Given the description of an element on the screen output the (x, y) to click on. 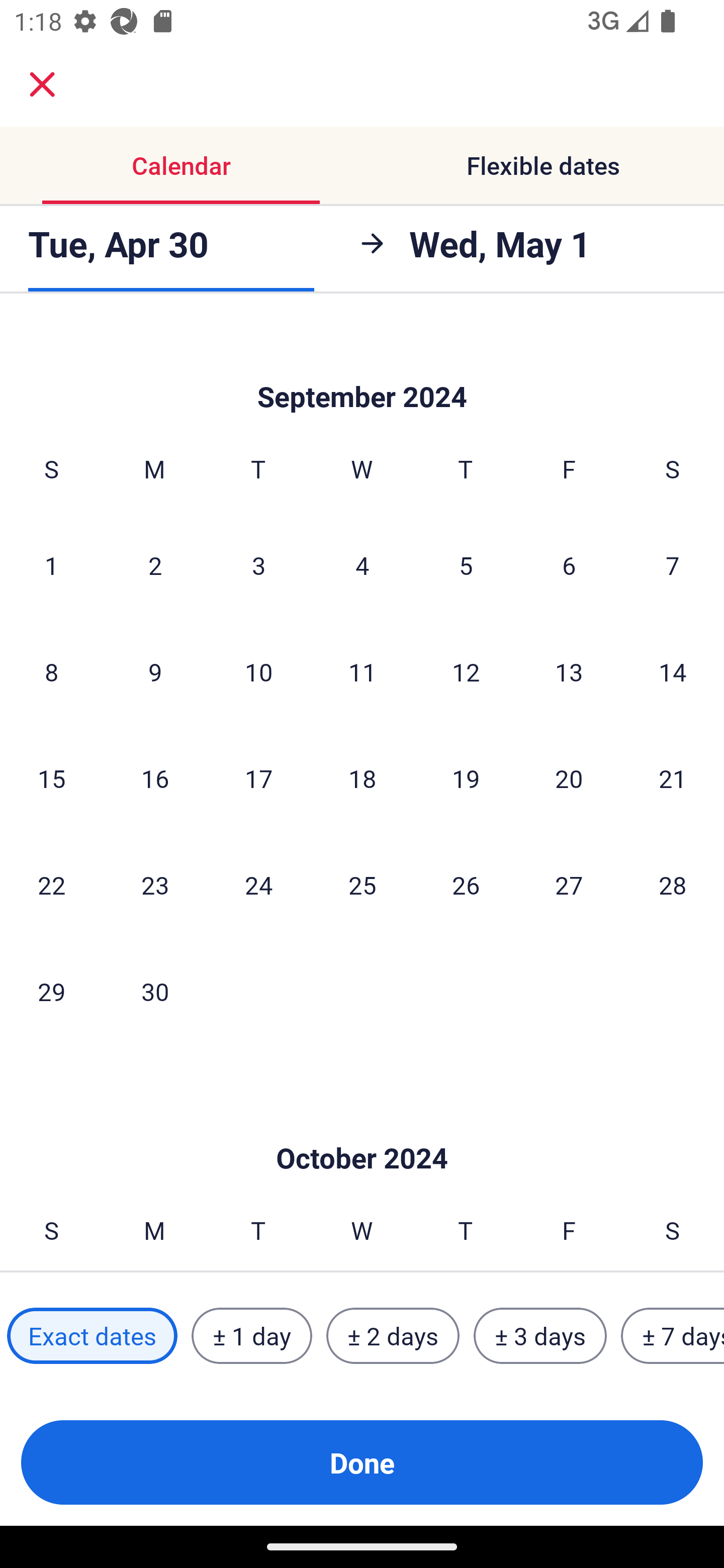
close. (42, 84)
Flexible dates (542, 164)
Skip to Done (362, 366)
1 Sunday, September 1, 2024 (51, 565)
2 Monday, September 2, 2024 (155, 565)
3 Tuesday, September 3, 2024 (258, 565)
4 Wednesday, September 4, 2024 (362, 565)
5 Thursday, September 5, 2024 (465, 565)
6 Friday, September 6, 2024 (569, 565)
7 Saturday, September 7, 2024 (672, 565)
8 Sunday, September 8, 2024 (51, 671)
9 Monday, September 9, 2024 (155, 671)
10 Tuesday, September 10, 2024 (258, 671)
11 Wednesday, September 11, 2024 (362, 671)
12 Thursday, September 12, 2024 (465, 671)
13 Friday, September 13, 2024 (569, 671)
14 Saturday, September 14, 2024 (672, 671)
15 Sunday, September 15, 2024 (51, 777)
16 Monday, September 16, 2024 (155, 777)
17 Tuesday, September 17, 2024 (258, 777)
18 Wednesday, September 18, 2024 (362, 777)
19 Thursday, September 19, 2024 (465, 777)
20 Friday, September 20, 2024 (569, 777)
21 Saturday, September 21, 2024 (672, 777)
22 Sunday, September 22, 2024 (51, 884)
23 Monday, September 23, 2024 (155, 884)
24 Tuesday, September 24, 2024 (258, 884)
25 Wednesday, September 25, 2024 (362, 884)
26 Thursday, September 26, 2024 (465, 884)
27 Friday, September 27, 2024 (569, 884)
28 Saturday, September 28, 2024 (672, 884)
29 Sunday, September 29, 2024 (51, 990)
30 Monday, September 30, 2024 (155, 990)
Skip to Done (362, 1127)
Exact dates (92, 1335)
± 1 day (251, 1335)
± 2 days (392, 1335)
± 3 days (539, 1335)
± 7 days (672, 1335)
Done (361, 1462)
